Given the description of an element on the screen output the (x, y) to click on. 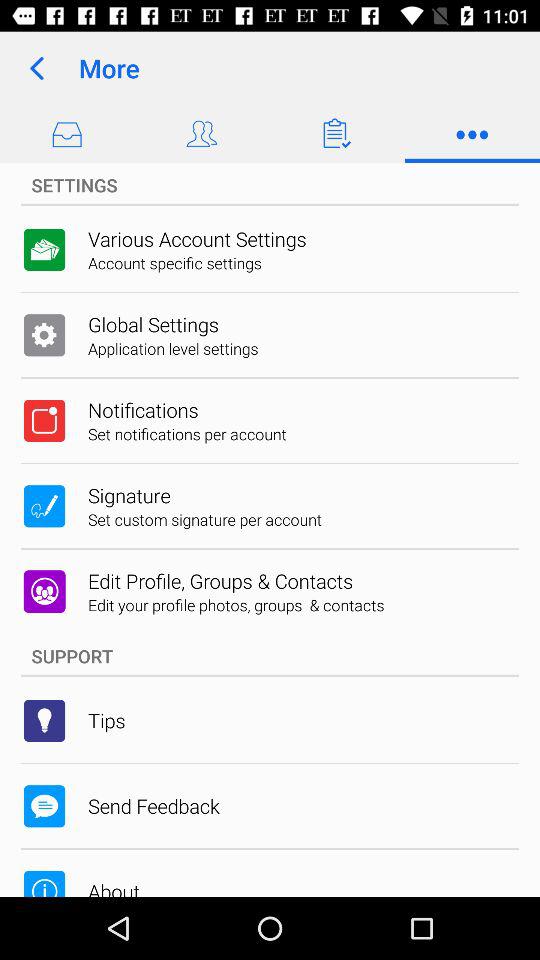
turn off the app above the application level settings app (153, 324)
